Given the description of an element on the screen output the (x, y) to click on. 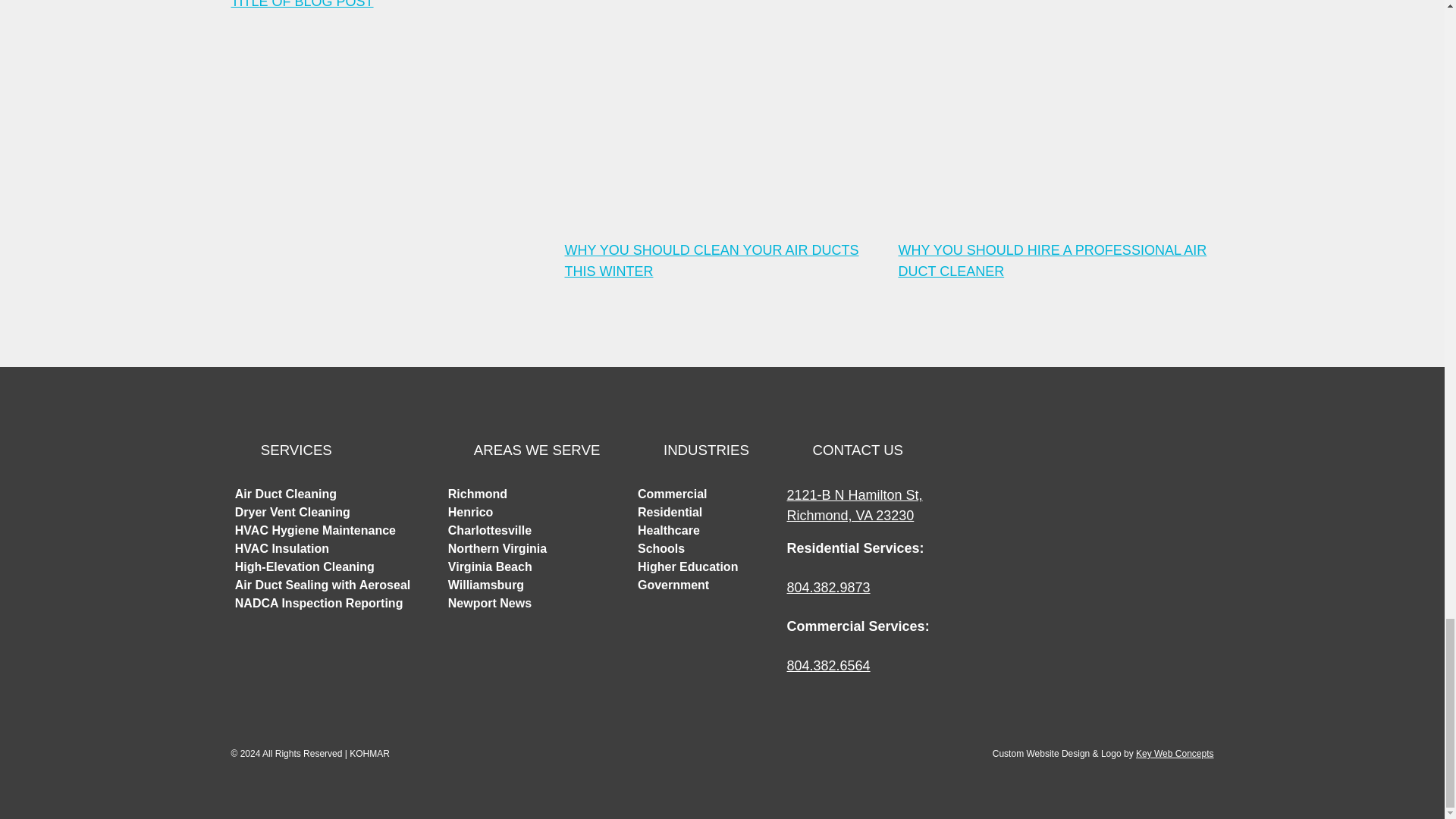
WHY YOU SHOULD HIRE A PROFESSIONAL AIR DUCT CLEANER (1055, 140)
WHY YOU SHOULD CLEAN YOUR AIR DUCTS THIS WINTER (721, 140)
Air Duct Cleaning (285, 493)
TITLE OF BLOG POST (388, 6)
